Given the description of an element on the screen output the (x, y) to click on. 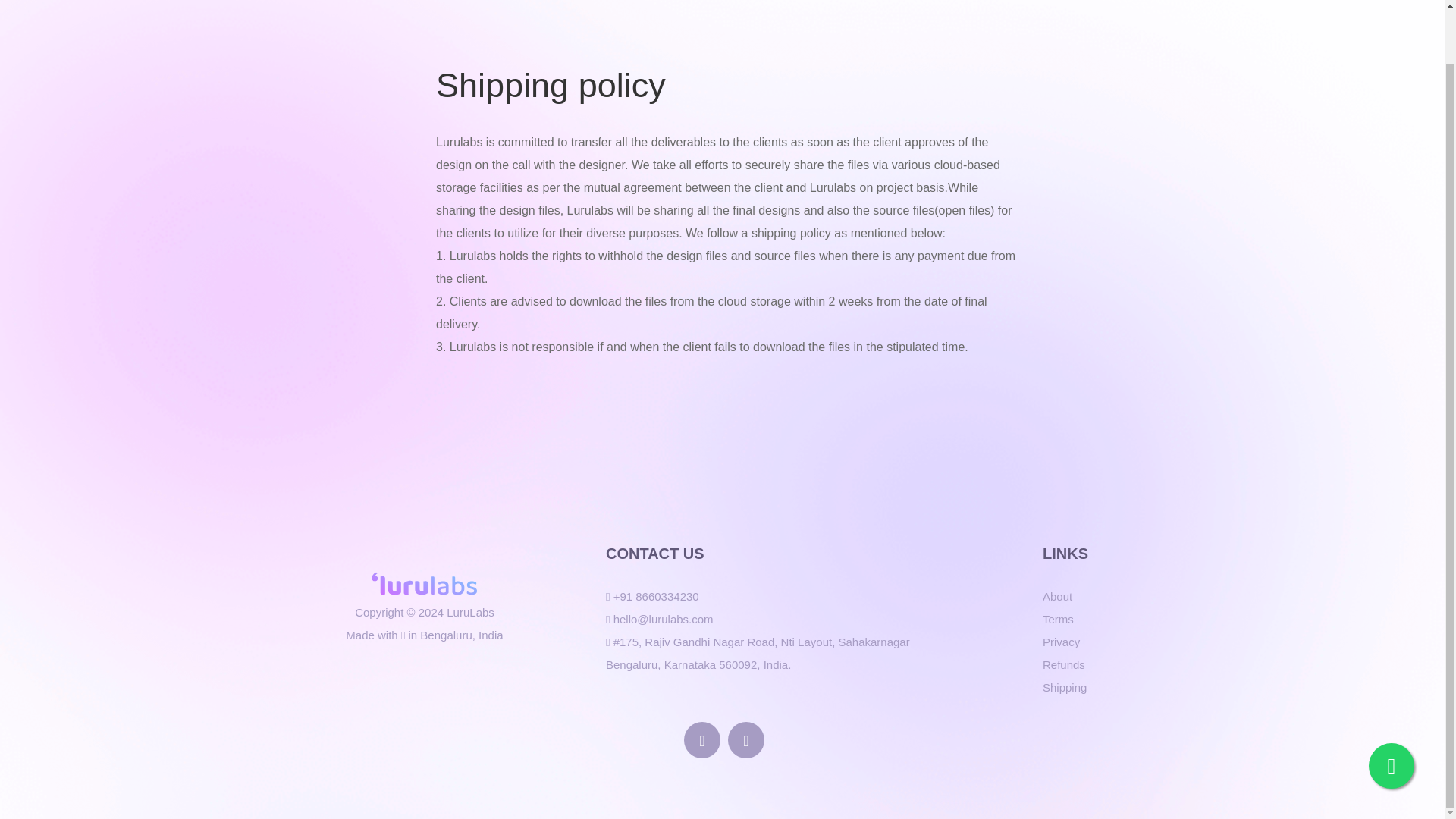
Privacy (1061, 641)
About (1056, 596)
Terms (1058, 619)
Shipping (1064, 687)
Refunds (1063, 664)
